Given the description of an element on the screen output the (x, y) to click on. 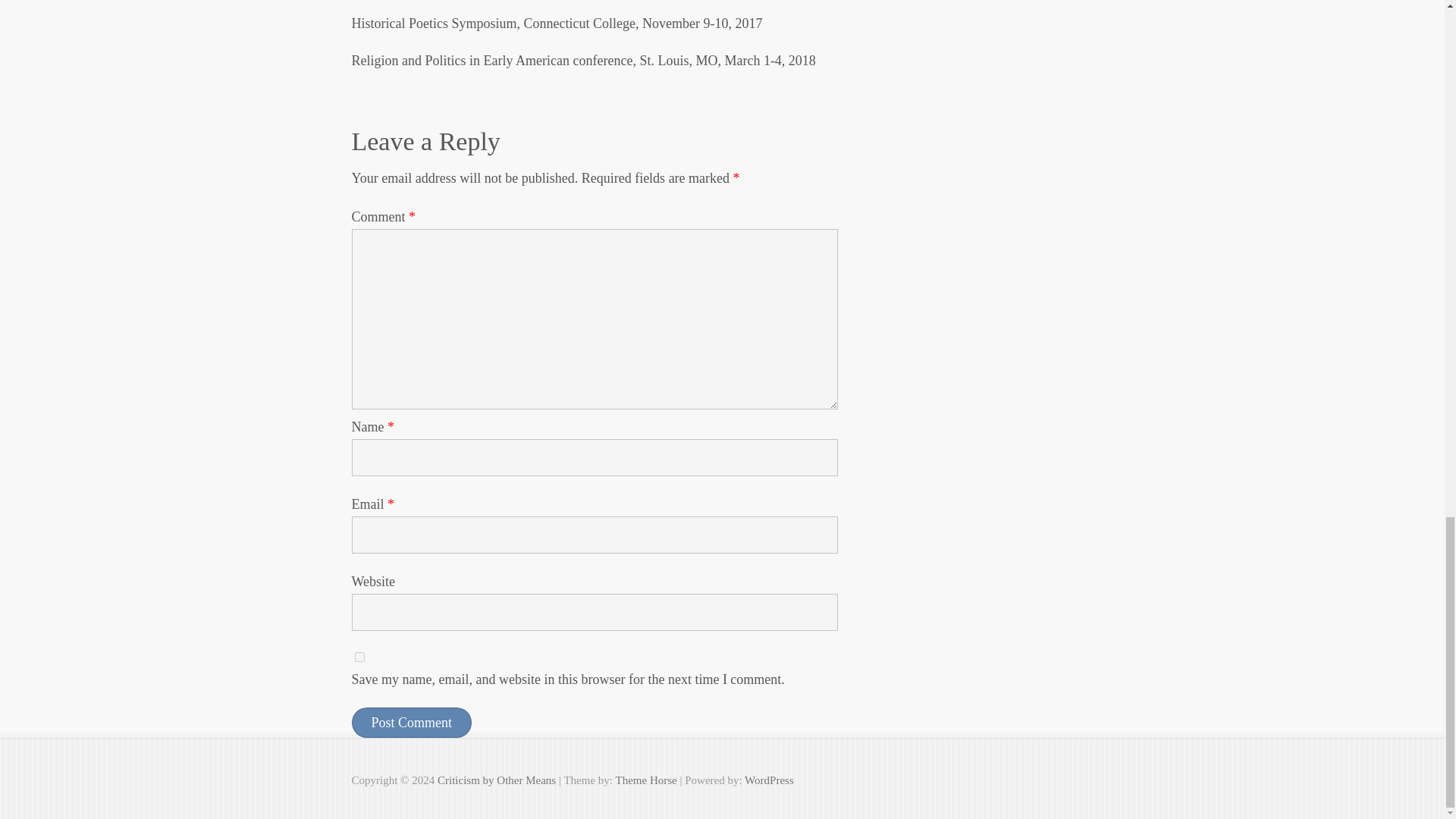
Theme Horse (646, 779)
WordPress (768, 779)
yes (360, 656)
Post Comment (411, 722)
Criticism by Other Means (497, 779)
Post Comment (411, 722)
